Given the description of an element on the screen output the (x, y) to click on. 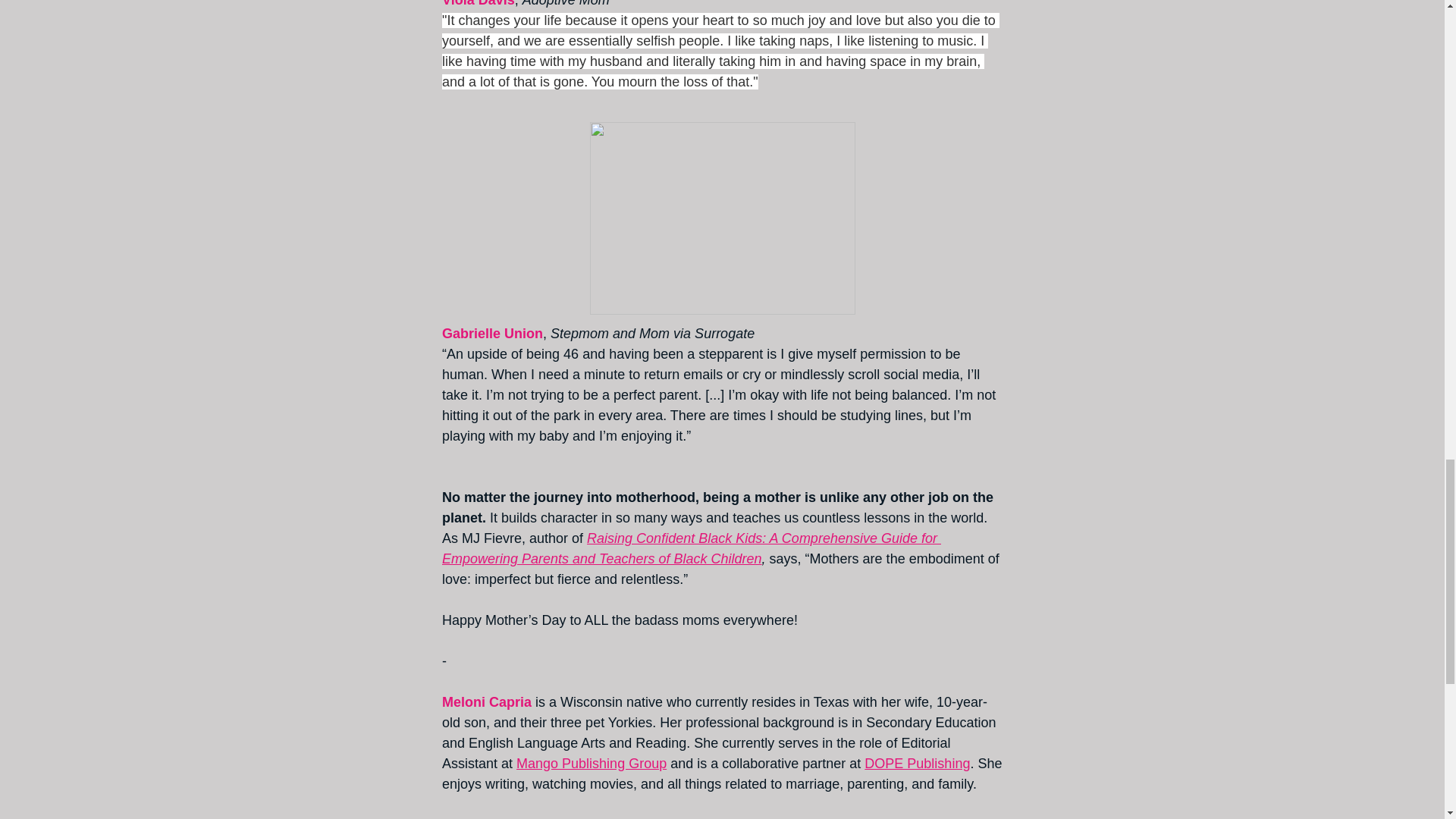
DOPE Publishing (916, 763)
Mango Publishing Group (591, 763)
